Given the description of an element on the screen output the (x, y) to click on. 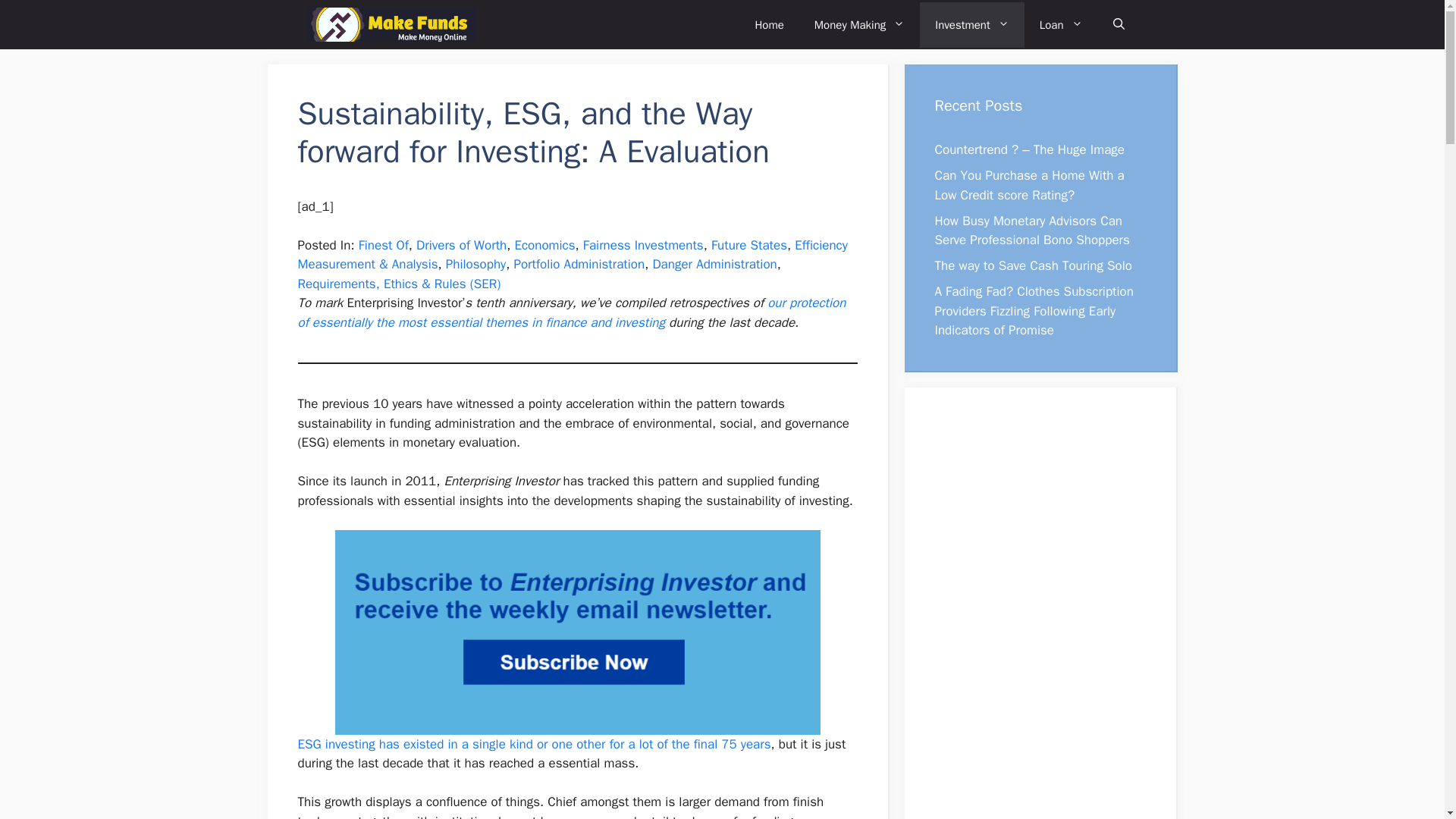
Drivers of Worth (461, 245)
Loan (1061, 23)
Money Making (859, 23)
Make Funds Internet (390, 24)
Danger Administration (714, 263)
Home (768, 23)
Investment (972, 23)
Fairness Investments (643, 245)
Portfolio Administration (579, 263)
